Given the description of an element on the screen output the (x, y) to click on. 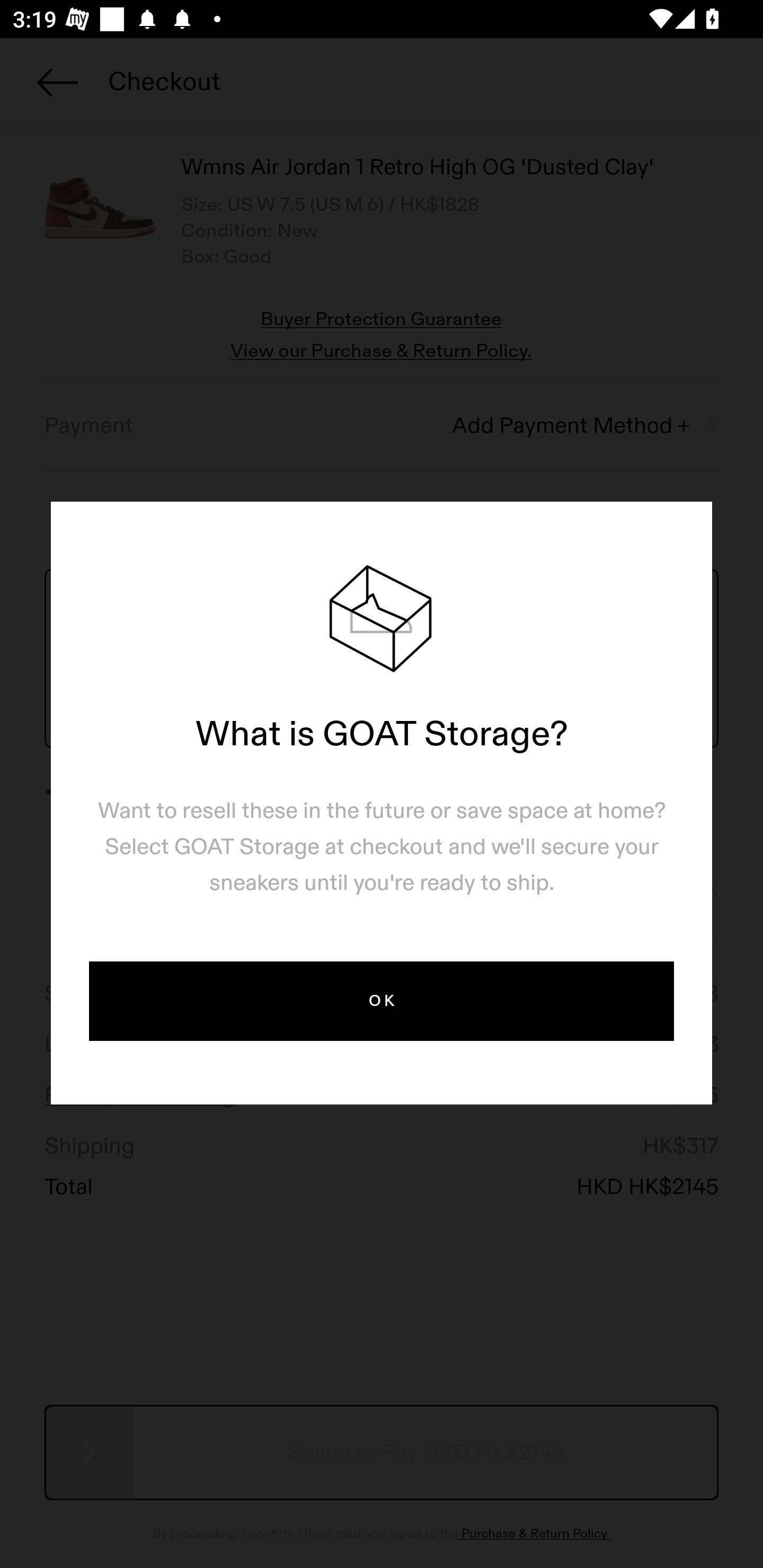
OK (381, 1001)
